Given the description of an element on the screen output the (x, y) to click on. 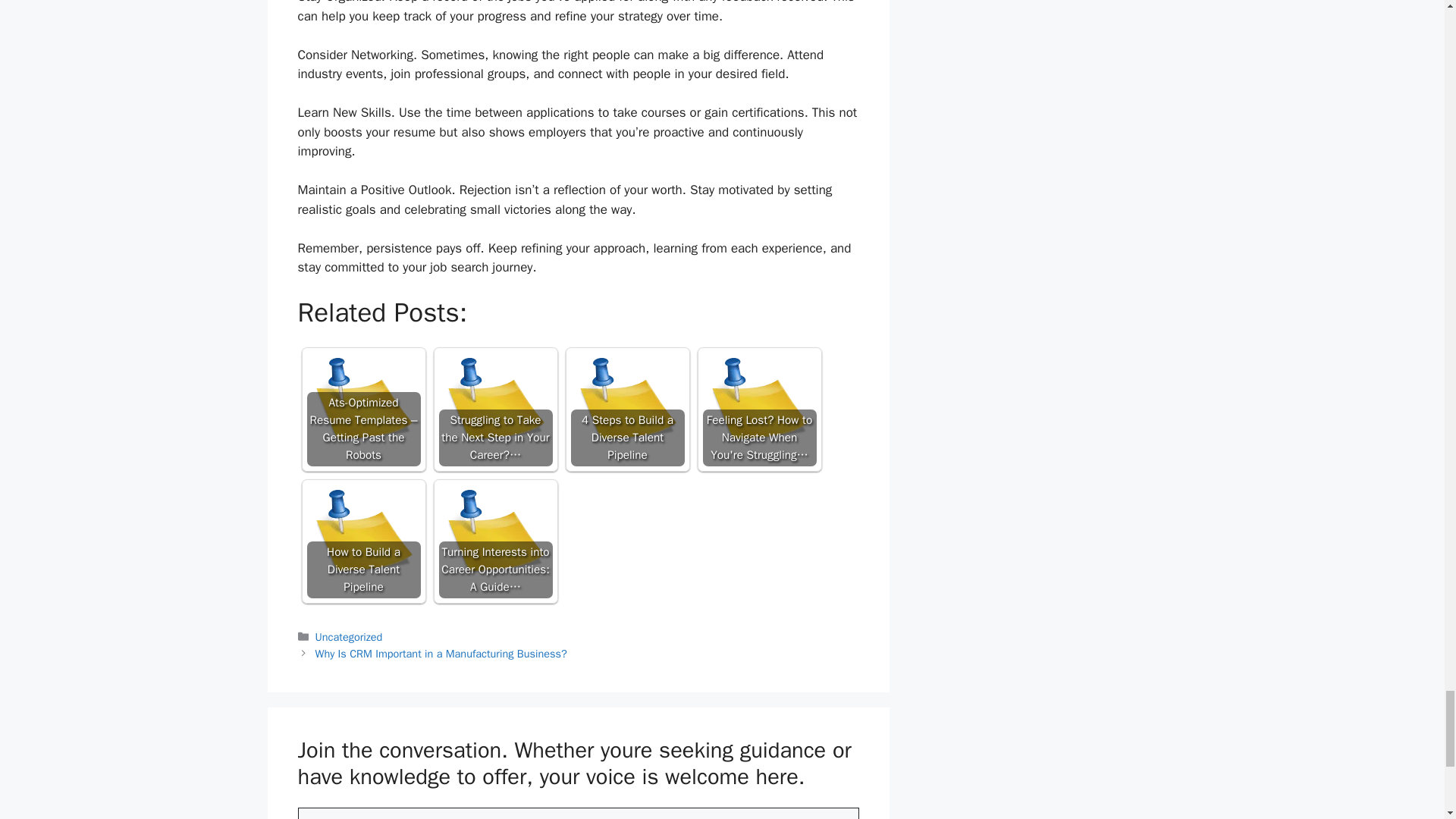
Why Is CRM Important in a Manufacturing Business? (441, 653)
Uncategorized (348, 636)
How to Build a Diverse Talent Pipeline (362, 541)
4 Steps to Build a Diverse Talent Pipeline (627, 409)
How to Build a Diverse Talent Pipeline (362, 541)
4 Steps to Build a Diverse Talent Pipeline (627, 409)
